Given the description of an element on the screen output the (x, y) to click on. 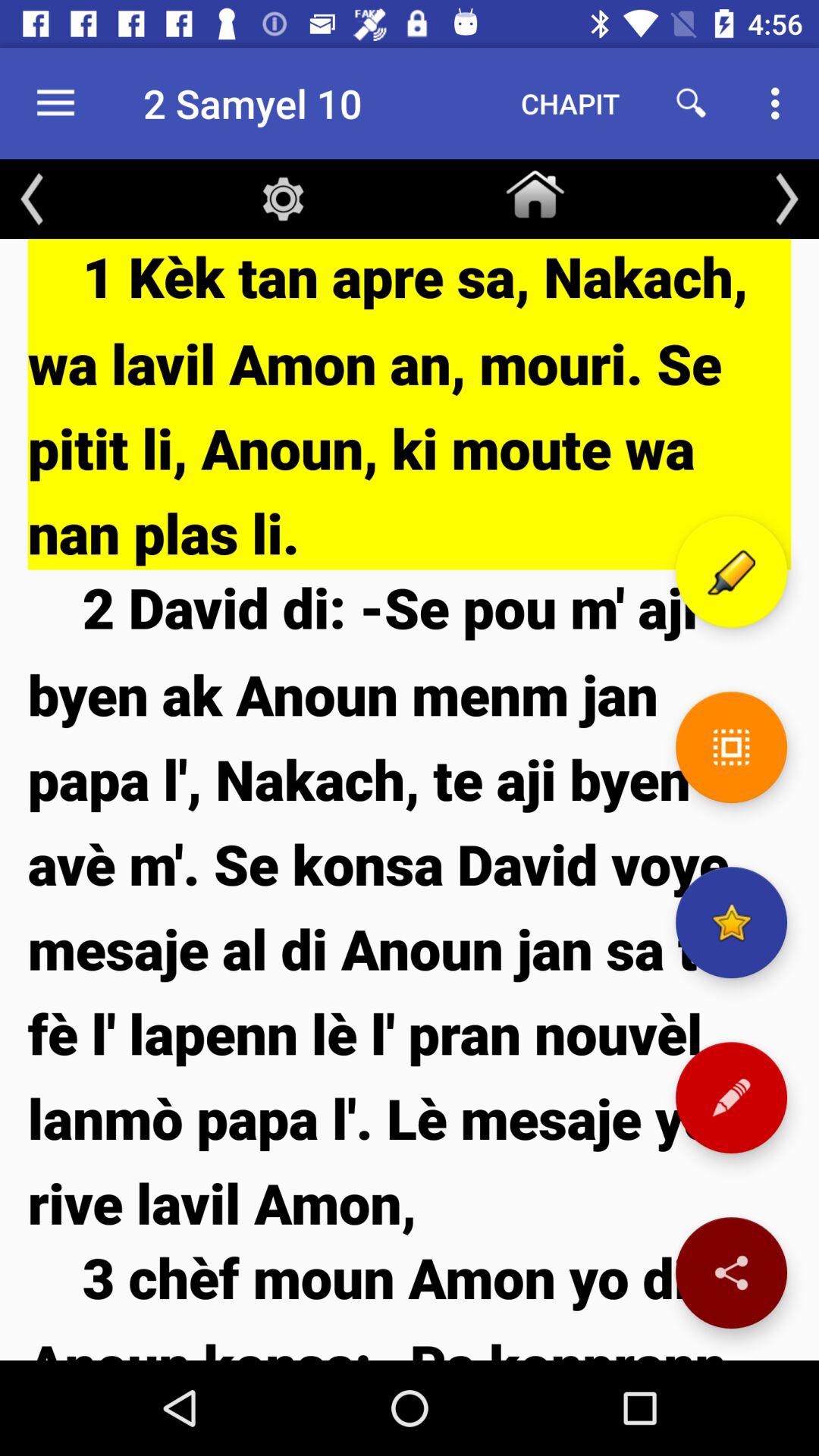
tap icon below the chapit icon (535, 190)
